Given the description of an element on the screen output the (x, y) to click on. 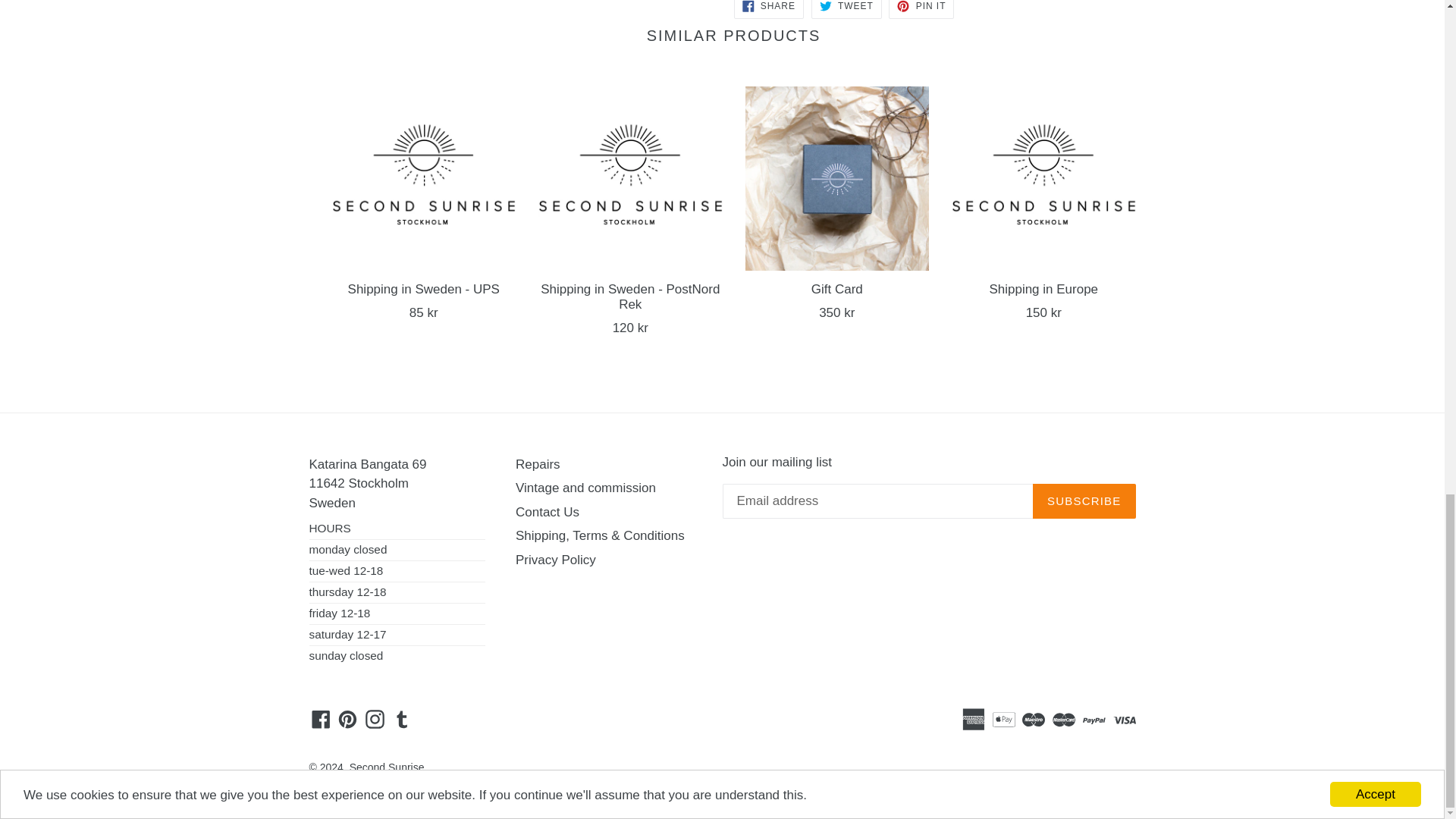
Second Sunrise on Tumblr (401, 718)
Second Sunrise on Facebook (320, 718)
Tweet on Twitter (846, 9)
Share on Facebook (768, 9)
Pin on Pinterest (920, 9)
Second Sunrise on Pinterest (347, 718)
Second Sunrise on Instagram (374, 718)
